Given the description of an element on the screen output the (x, y) to click on. 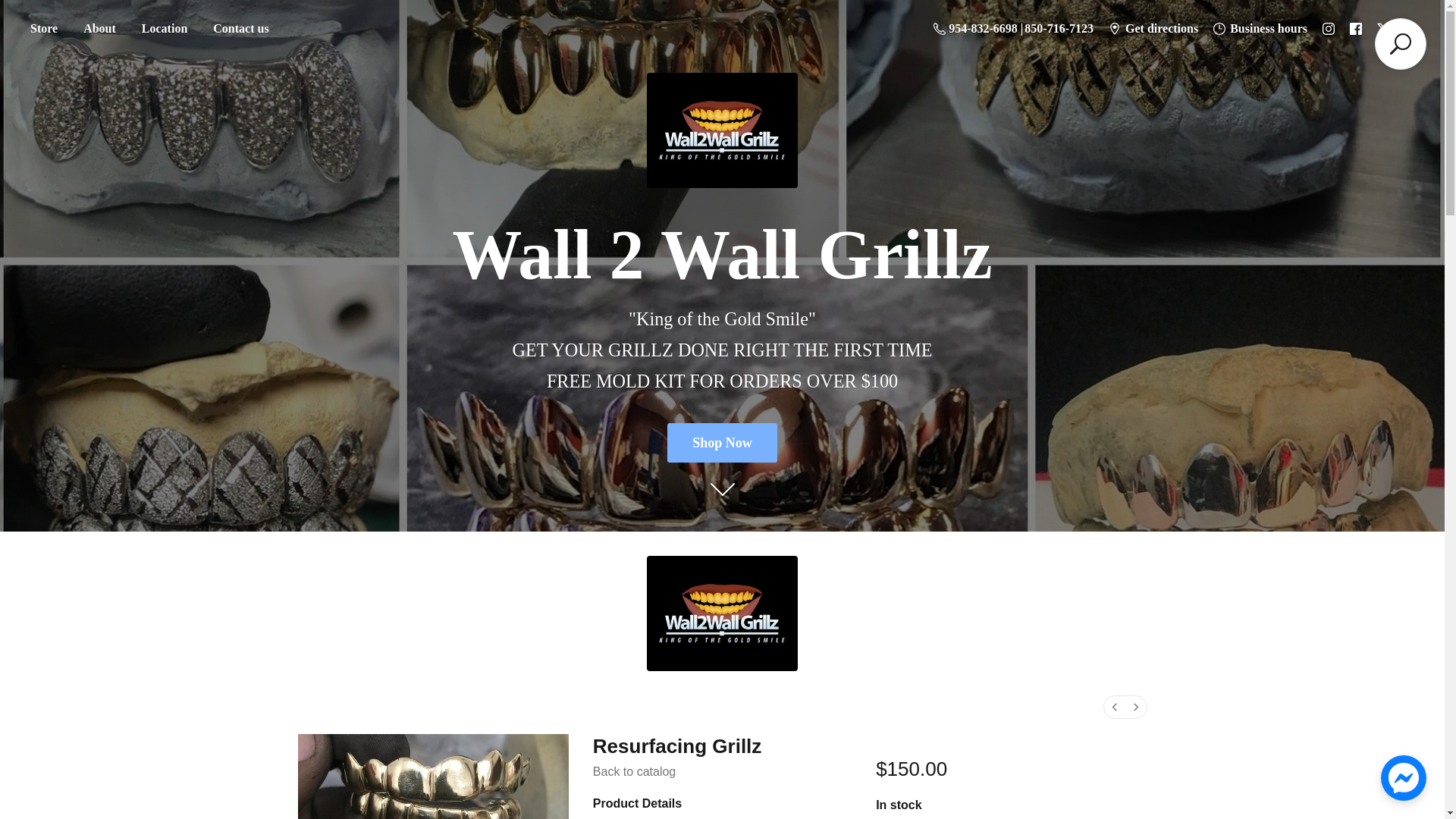
Resurfacing Grillz (432, 776)
Contact us (240, 29)
About (99, 29)
Shop Now (721, 442)
Back to catalog (633, 771)
Store (43, 29)
Get directions (1152, 28)
Business hours (1259, 28)
Location (164, 29)
